Given the description of an element on the screen output the (x, y) to click on. 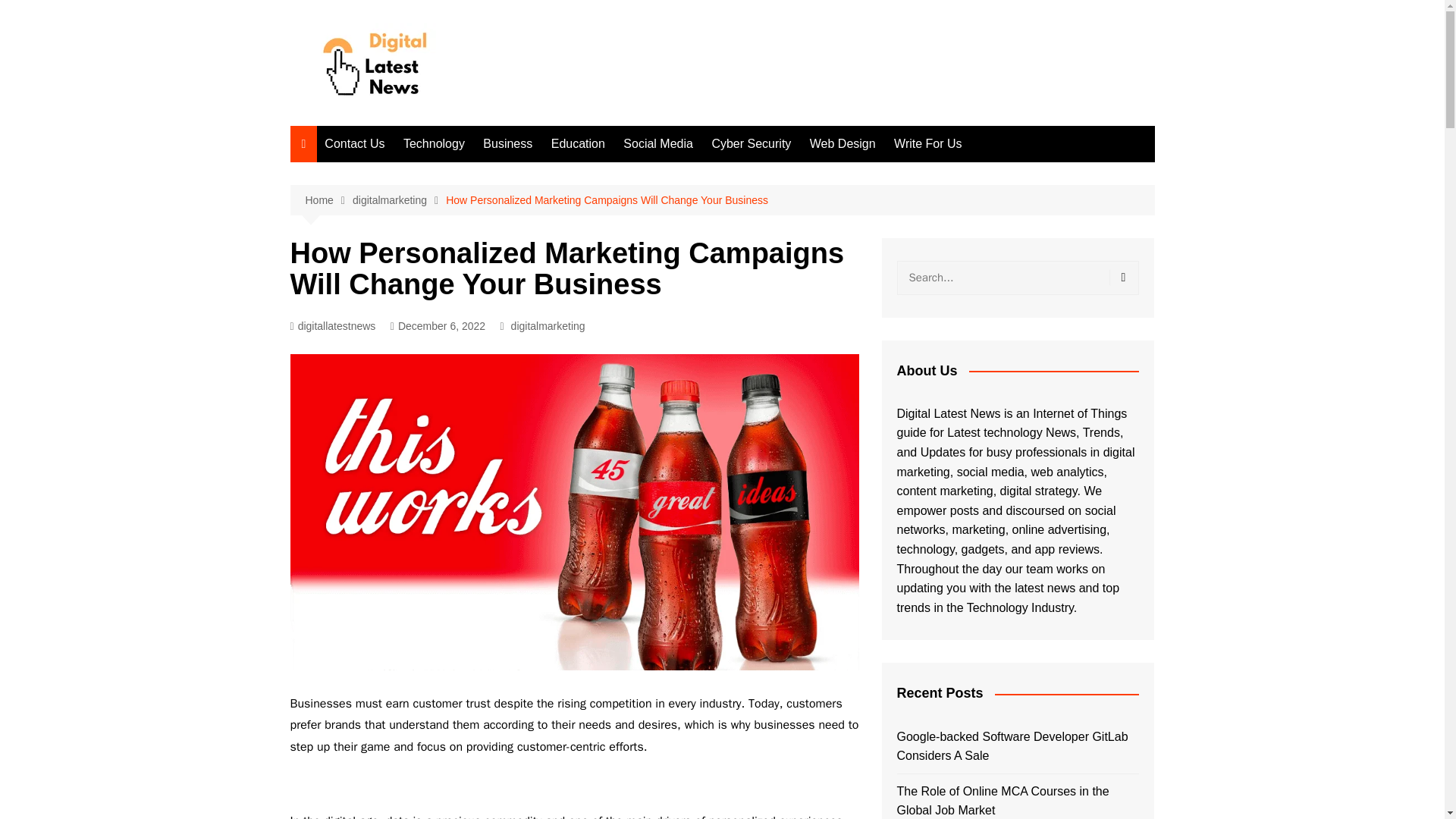
Home (328, 200)
digitalmarketing (398, 200)
Business (508, 144)
Web Design (842, 144)
Social Media (657, 144)
Cyber Security (750, 144)
Technology (433, 144)
Contact Us (354, 144)
digitalmarketing (548, 325)
December 6, 2022 (437, 325)
digitallatestnews (332, 325)
Write For Us (927, 144)
Education (577, 144)
